Given the description of an element on the screen output the (x, y) to click on. 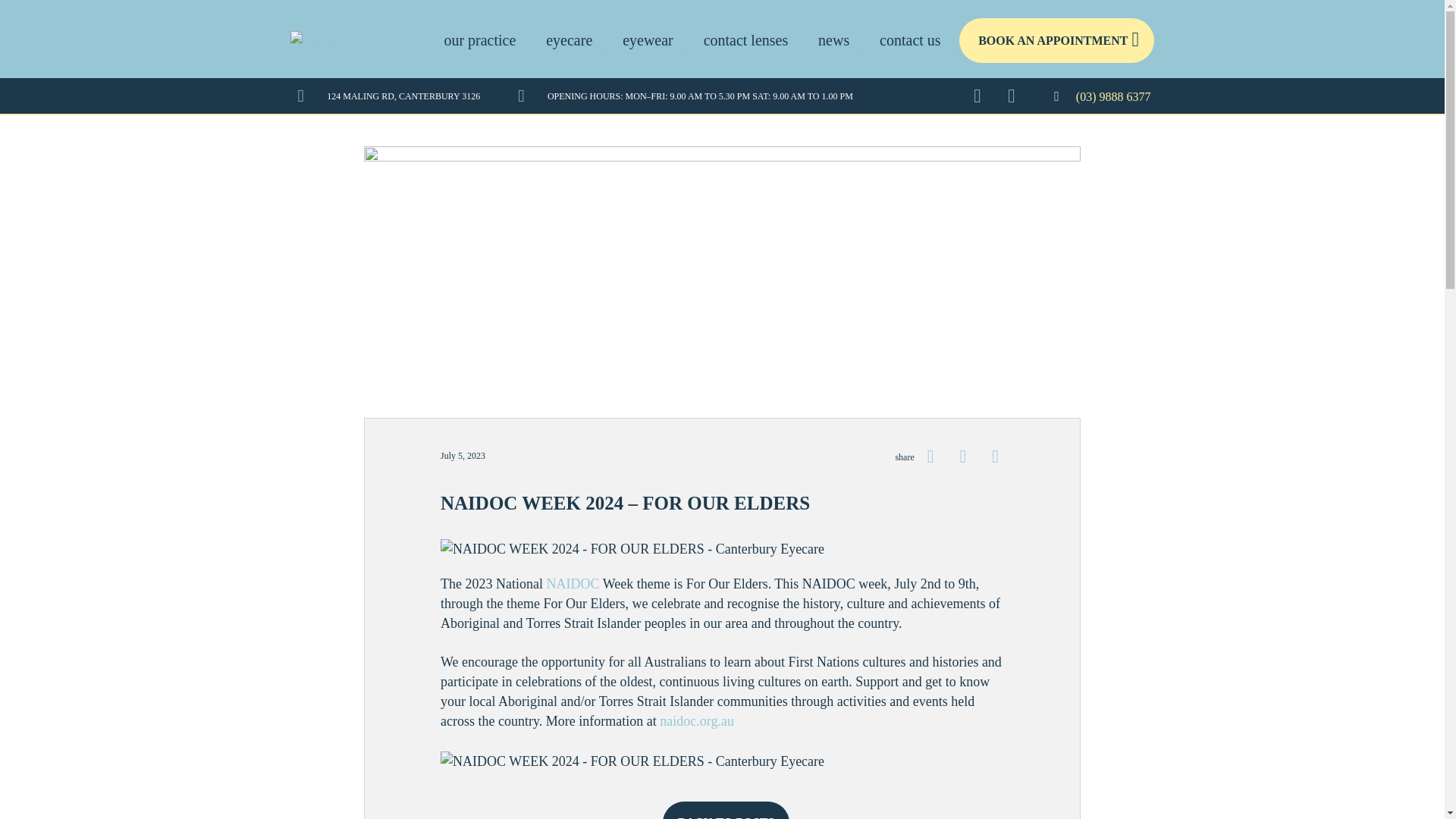
eyecare (569, 40)
news (833, 40)
contact us (909, 40)
contact lenses (745, 40)
our practice (480, 40)
BOOK AN APPOINTMENT (1056, 40)
eyewear (647, 40)
